Given the description of an element on the screen output the (x, y) to click on. 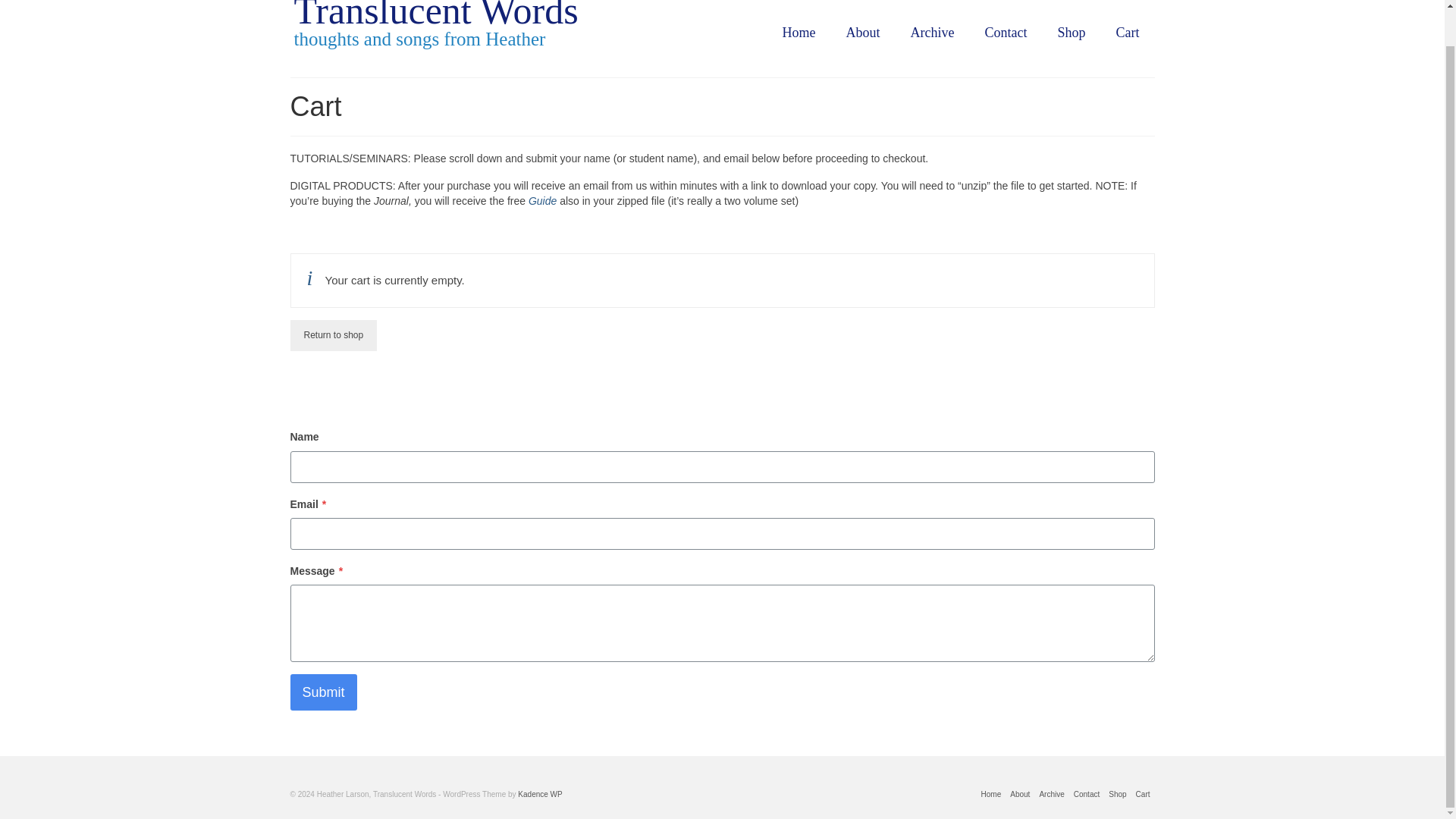
Return to shop (333, 335)
Translucent Words (436, 15)
Archive (1050, 794)
Home (799, 32)
Archive (932, 32)
Shop (1117, 794)
Contact (1005, 32)
Cart (1142, 794)
Contact (1085, 794)
About (1019, 794)
Guide (542, 200)
Kadence WP (540, 794)
Submit (322, 692)
Cart (1127, 32)
About (863, 32)
